Given the description of an element on the screen output the (x, y) to click on. 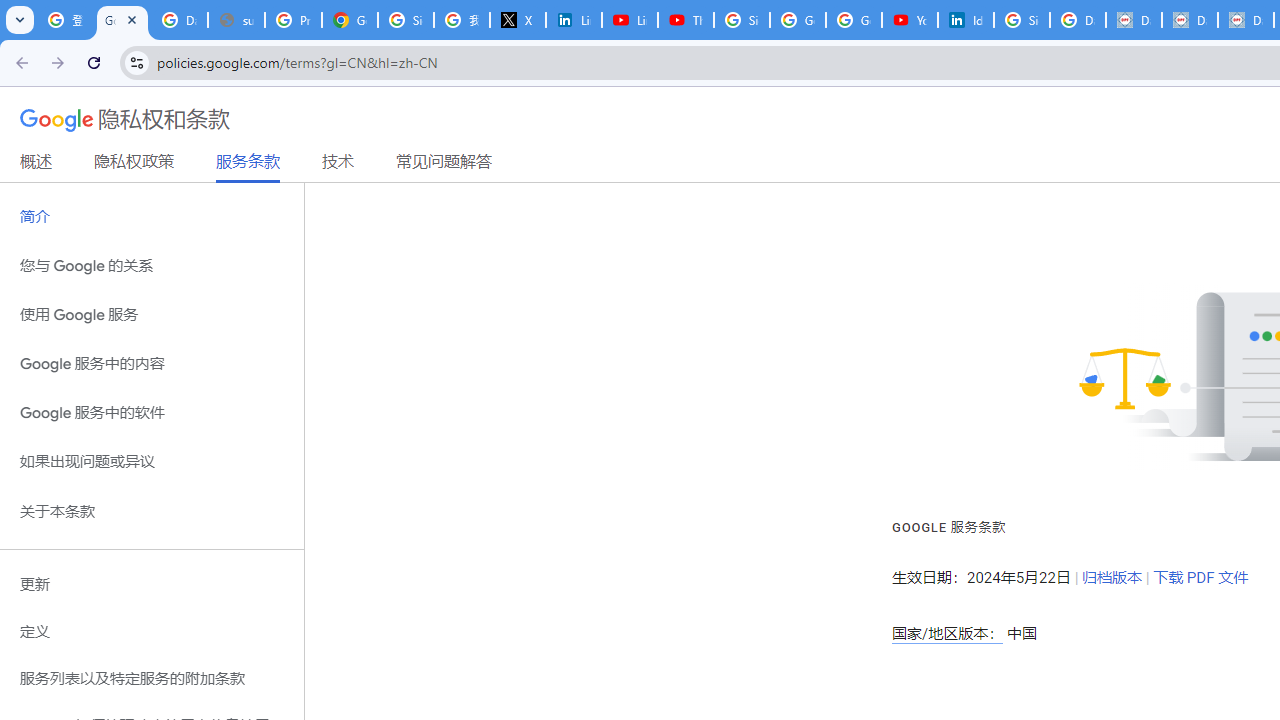
LinkedIn Privacy Policy (573, 20)
Data Privacy Framework (1133, 20)
Data Privacy Framework (1190, 20)
